Given the description of an element on the screen output the (x, y) to click on. 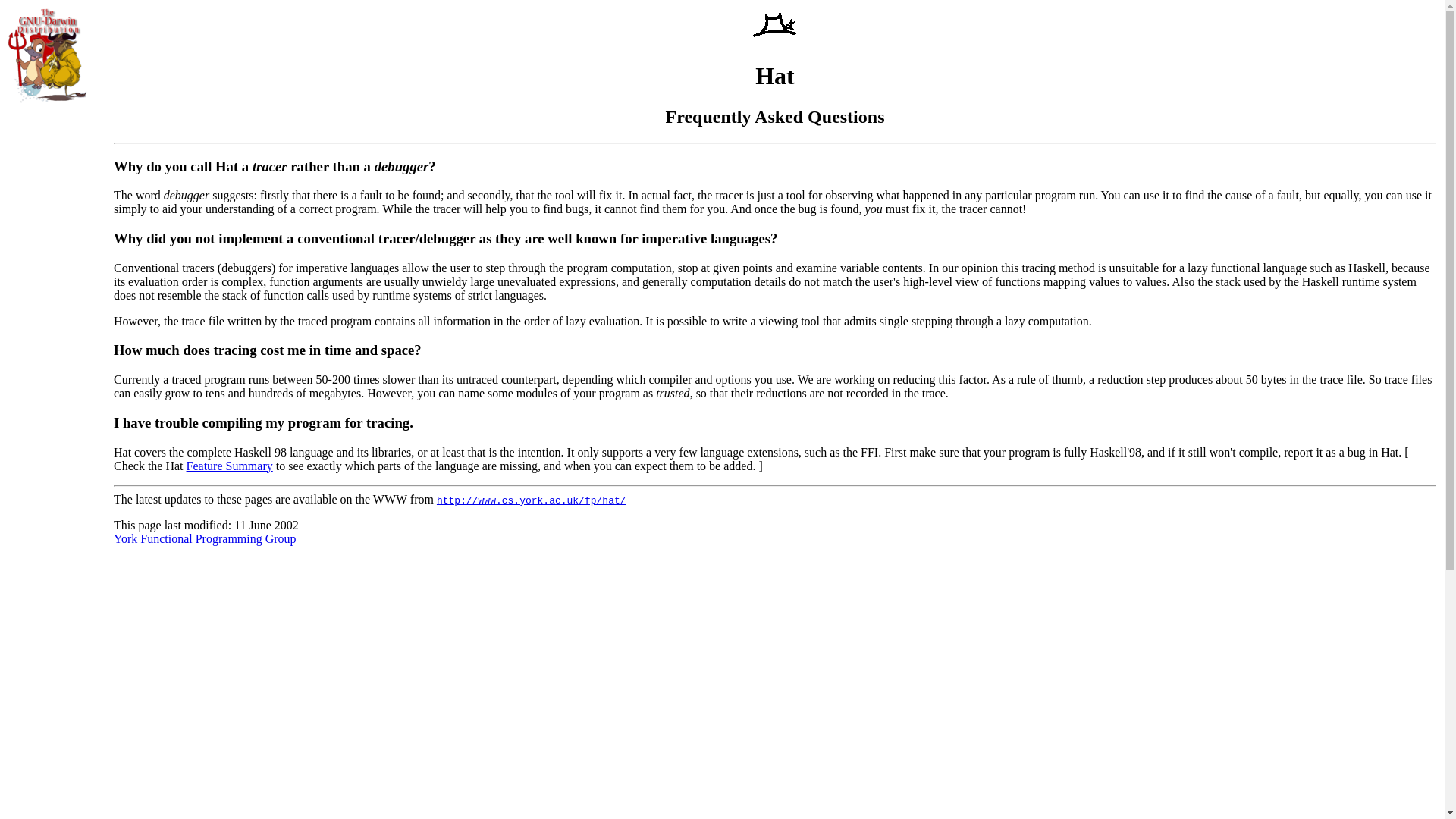
Feature Summary (229, 465)
York Functional Programming Group (205, 538)
